Given the description of an element on the screen output the (x, y) to click on. 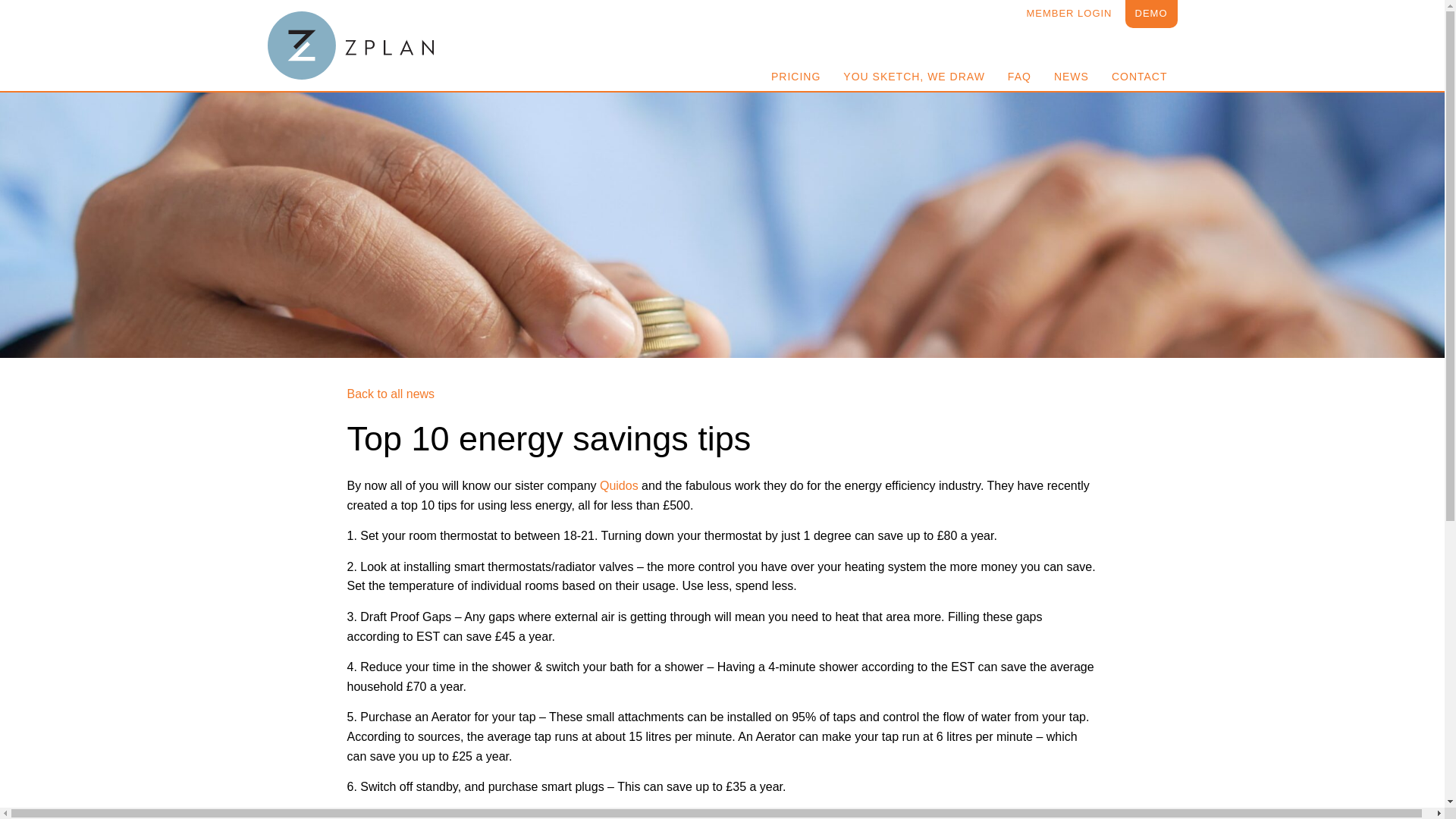
YOU SKETCH, WE DRAW (913, 76)
NEWS (1071, 76)
CONTACT (1139, 76)
Back to all news (391, 394)
Quidos (619, 485)
MEMBER LOGIN (1068, 13)
FAQ (1019, 76)
PRICING (795, 76)
DEMO (1151, 13)
